Given the description of an element on the screen output the (x, y) to click on. 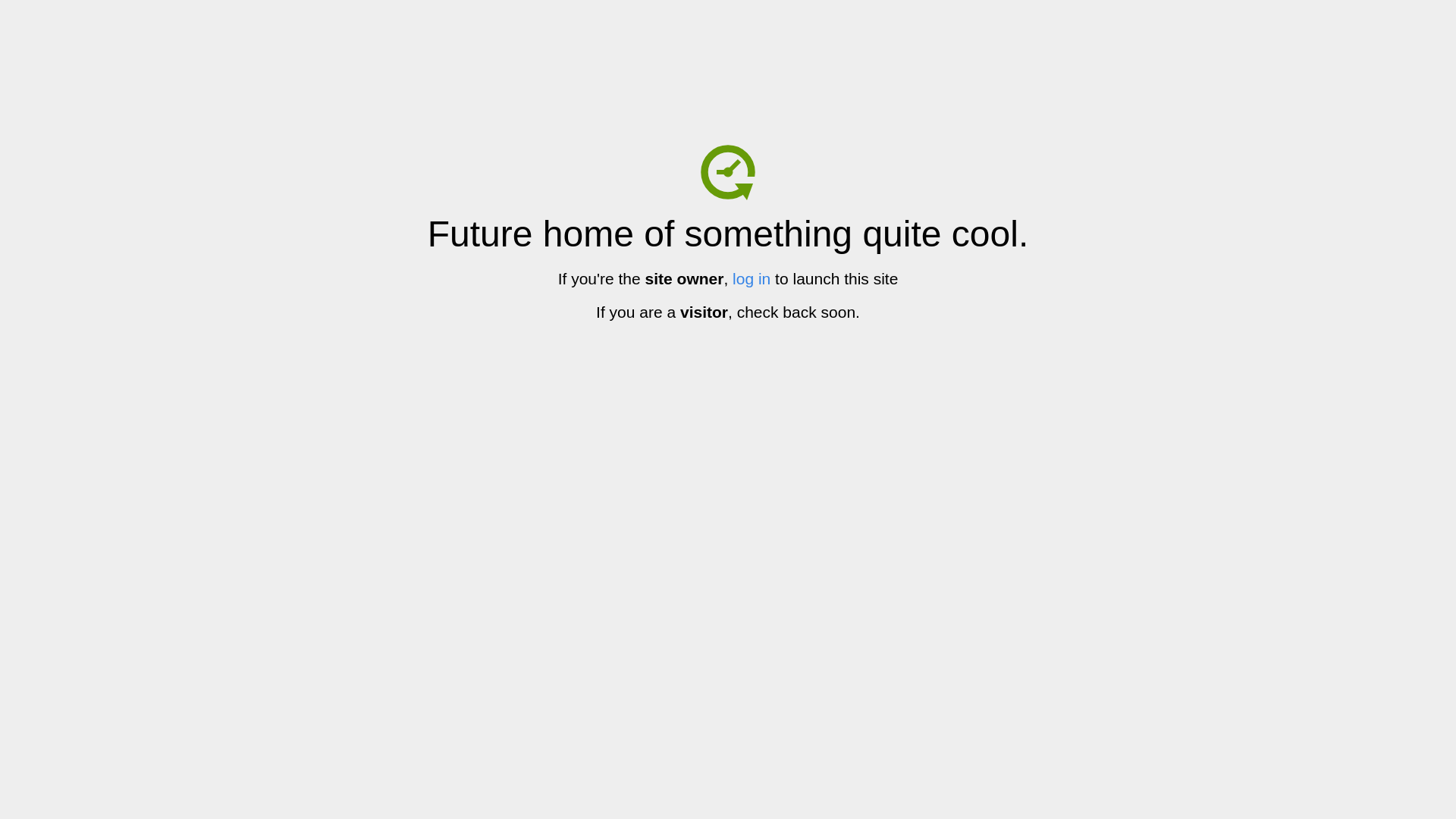
log in Element type: text (751, 278)
